Given the description of an element on the screen output the (x, y) to click on. 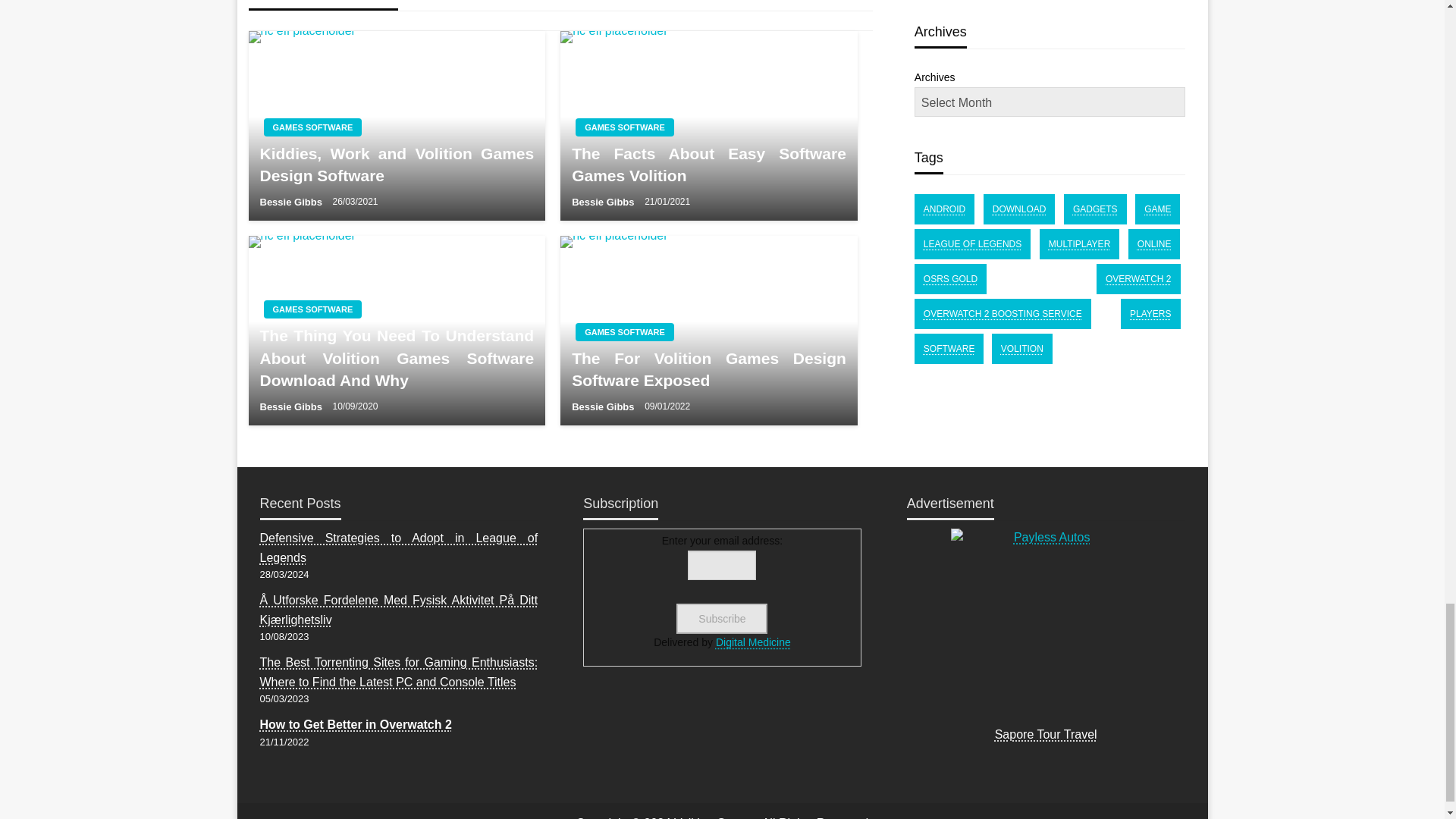
Bessie Gibbs (291, 202)
Bessie Gibbs (604, 202)
GAMES SOFTWARE (624, 126)
The Facts About Easy Software Games Volition (708, 125)
The For Volition Games Design Software Exposed (708, 330)
GAMES SOFTWARE (624, 331)
Subscribe (722, 618)
The Facts About Easy Software Games Volition (708, 164)
GAMES SOFTWARE (312, 309)
